Given the description of an element on the screen output the (x, y) to click on. 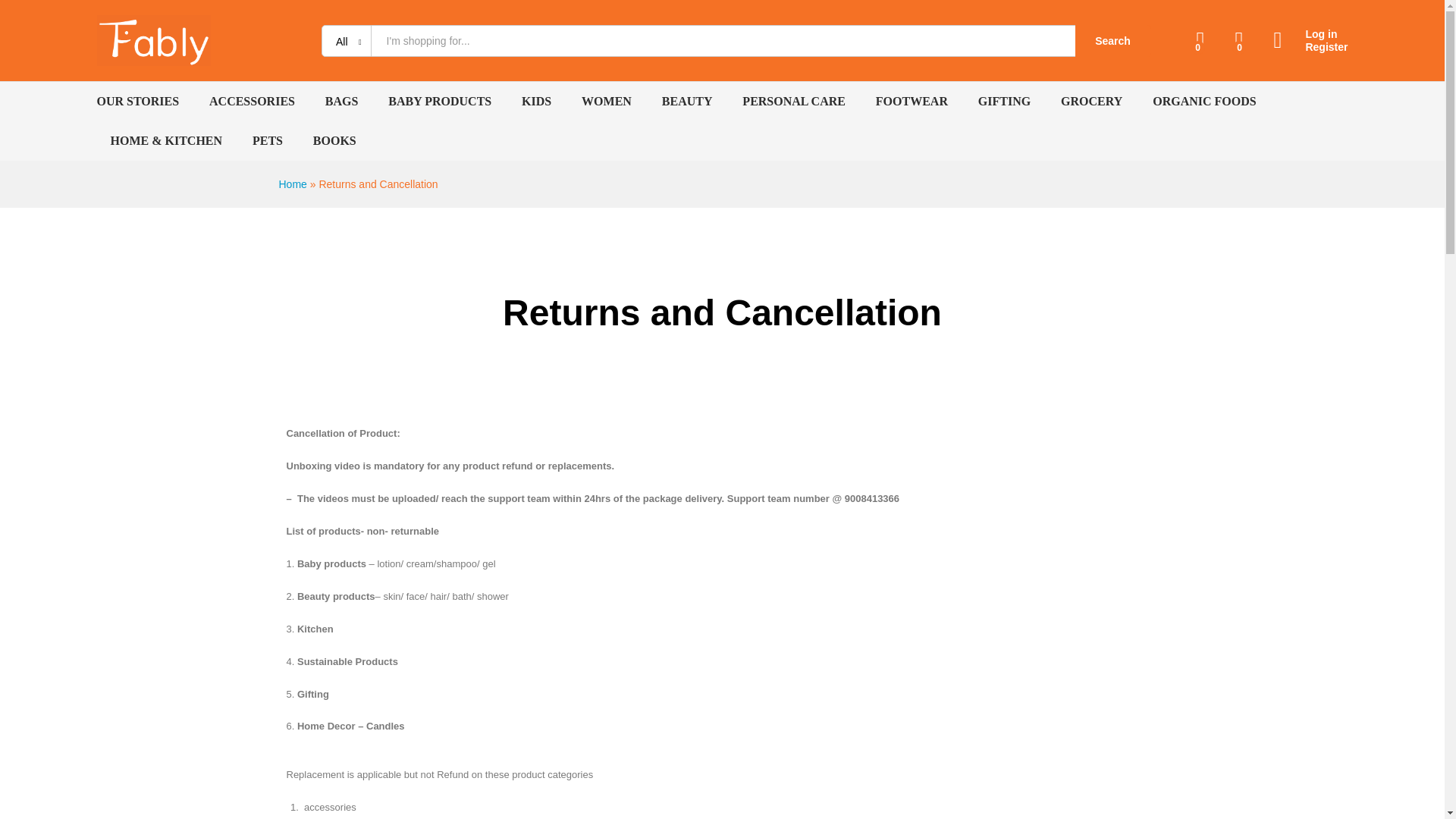
Search (1113, 40)
OUR STORIES (138, 101)
Register (1310, 47)
BABY PRODUCTS (440, 101)
Log in (1310, 33)
BAGS (341, 101)
ACCESSORIES (252, 101)
